Given the description of an element on the screen output the (x, y) to click on. 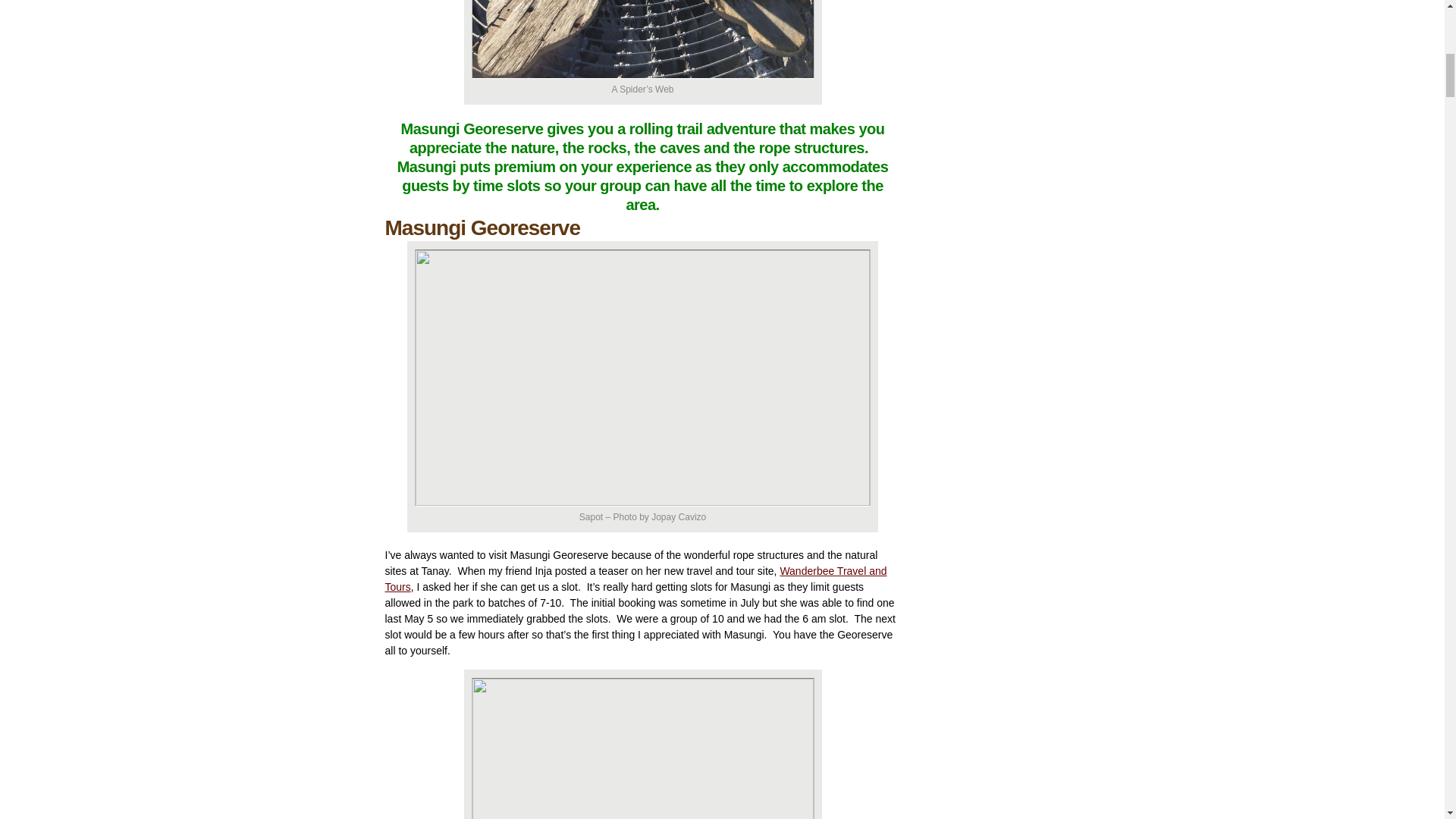
Wanderbee Travel and Tours (635, 578)
